Given the description of an element on the screen output the (x, y) to click on. 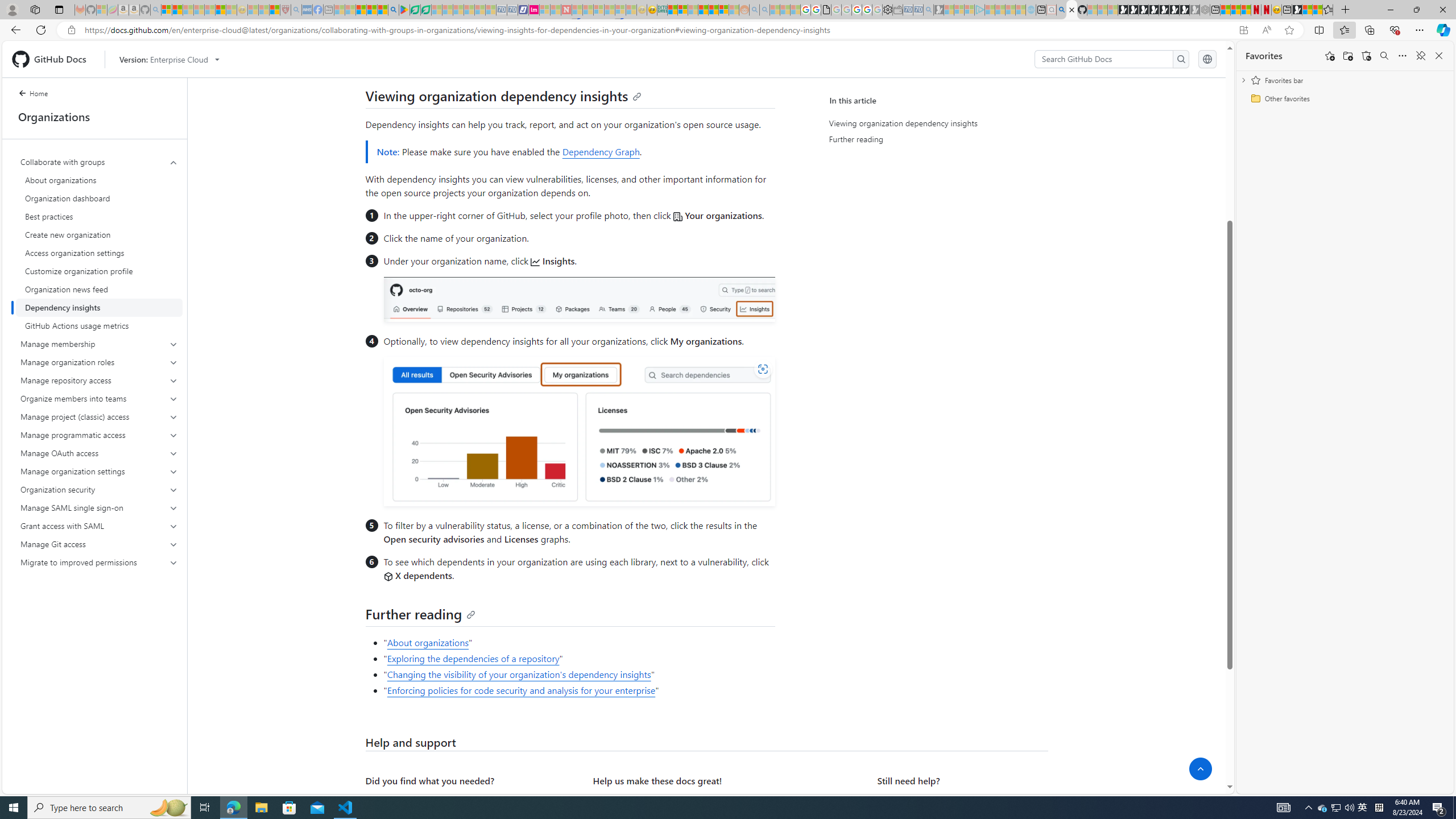
Manage programmatic access (99, 434)
Restore deleted favorites (1366, 55)
Unpin favorites (1420, 55)
2Click the name of your organization. (578, 238)
Organization news feed (99, 289)
Manage organization settings (99, 471)
